Given the description of an element on the screen output the (x, y) to click on. 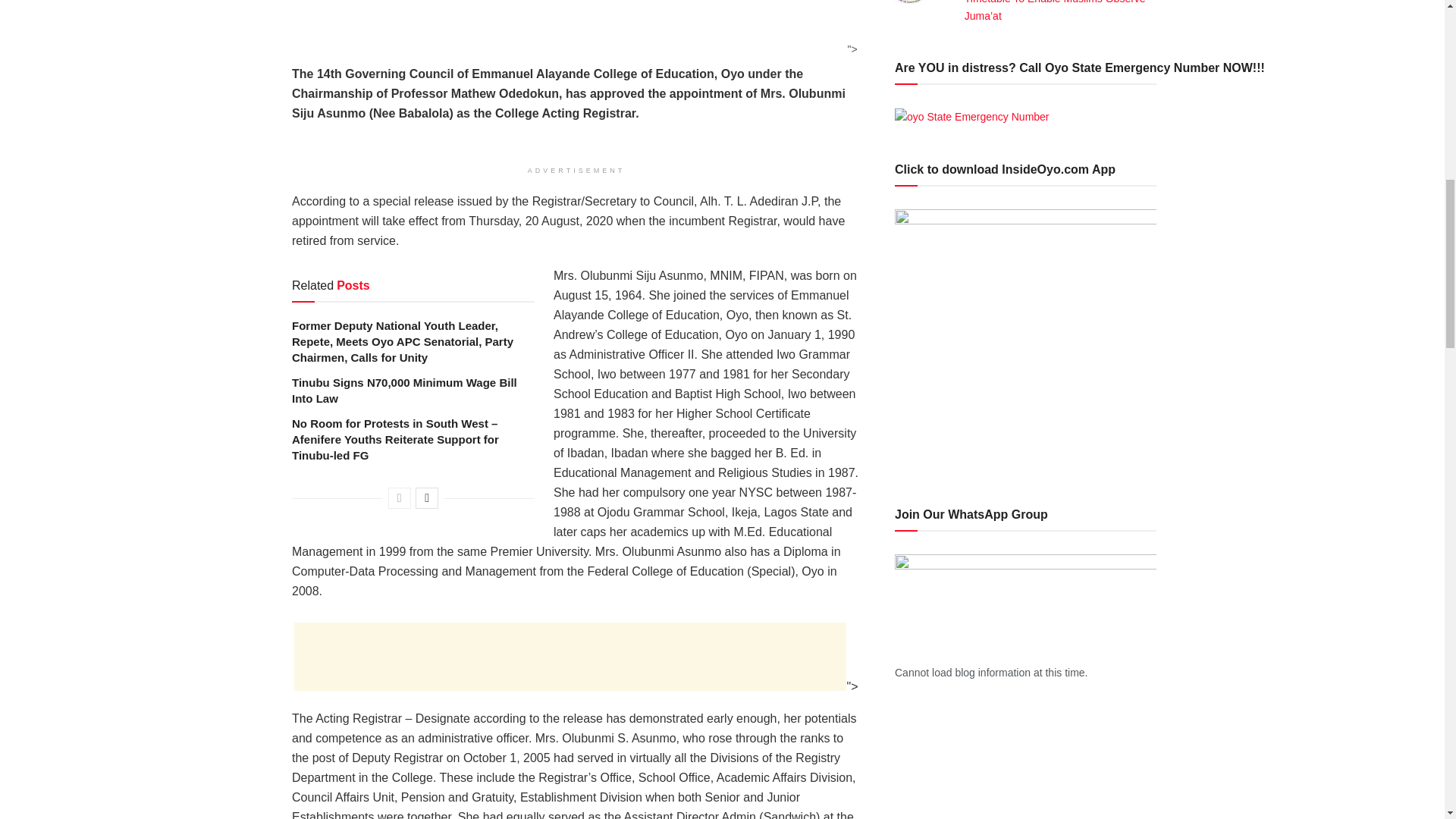
Previous (399, 497)
Are YOU in distress? Call Oyo State Emergency Number NOW!!! (972, 116)
Next (426, 497)
